Given the description of an element on the screen output the (x, y) to click on. 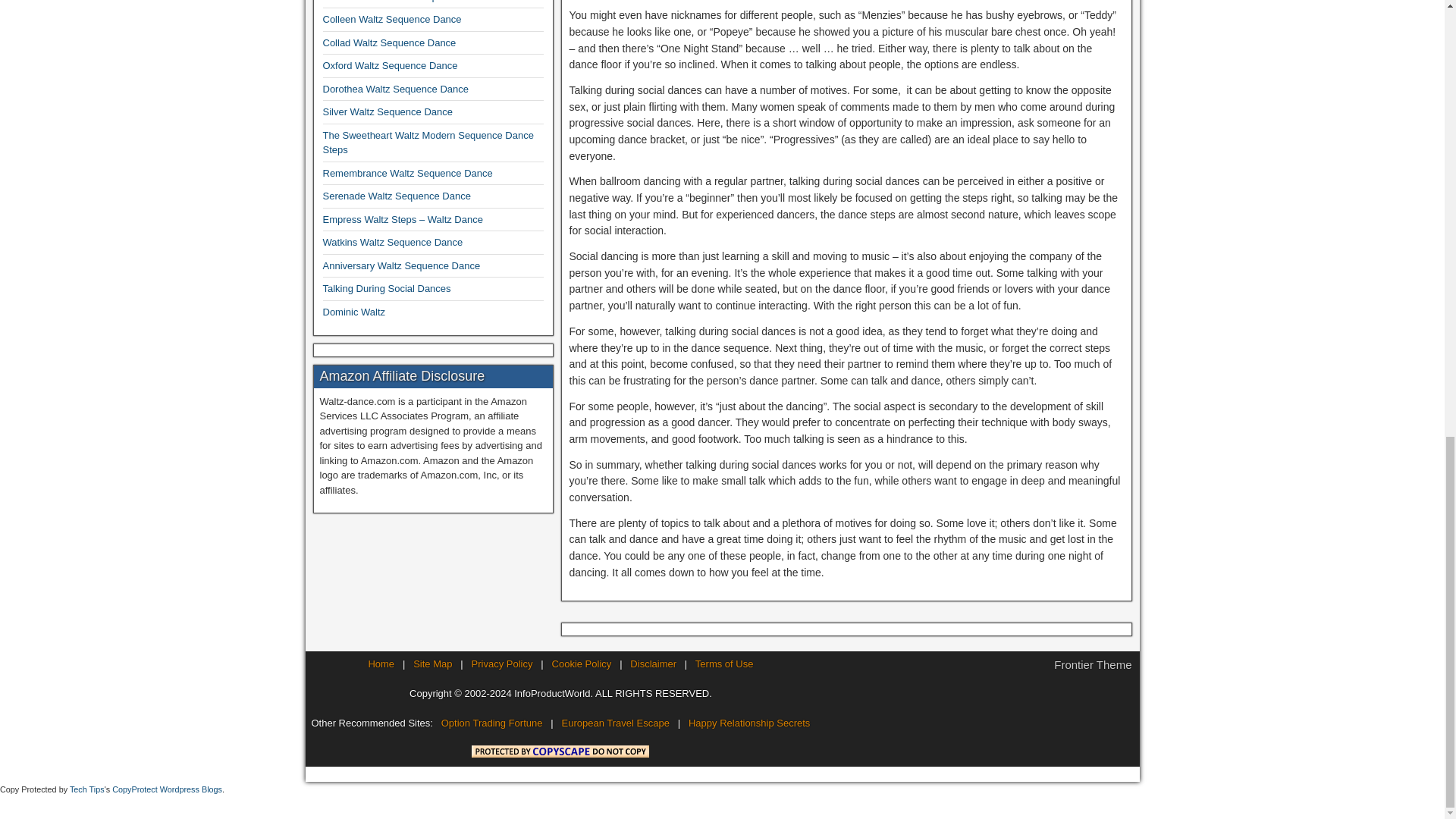
The Sweetheart Waltz Modern Sequence Dance Steps (428, 142)
Dorothea Waltz Sequence Dance (395, 89)
Cookie Policy (581, 663)
Terms of Use (724, 663)
The Christmas Waltz Sequence Dance (408, 1)
Disclaimer (653, 663)
Watkins Waltz Sequence Dance (393, 242)
Silver Waltz Sequence Dance (387, 111)
Oxford Waltz Sequence Dance (390, 65)
Dominic Waltz (354, 311)
Serenade Waltz Sequence Dance (396, 195)
Home (381, 663)
Talking During Social Dances (387, 288)
Colleen Waltz Sequence Dance (392, 19)
